Given the description of an element on the screen output the (x, y) to click on. 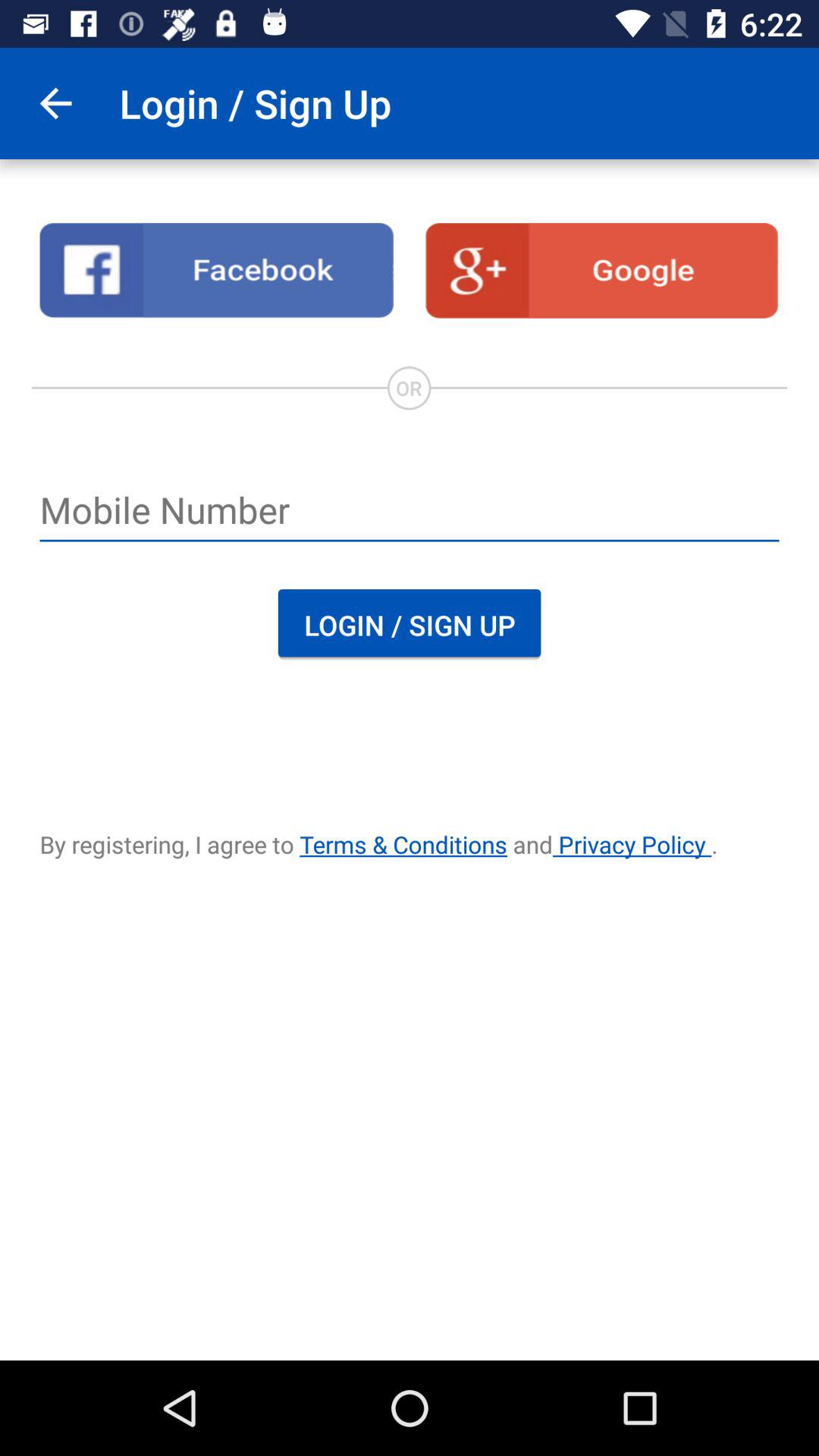
login with google (602, 270)
